Given the description of an element on the screen output the (x, y) to click on. 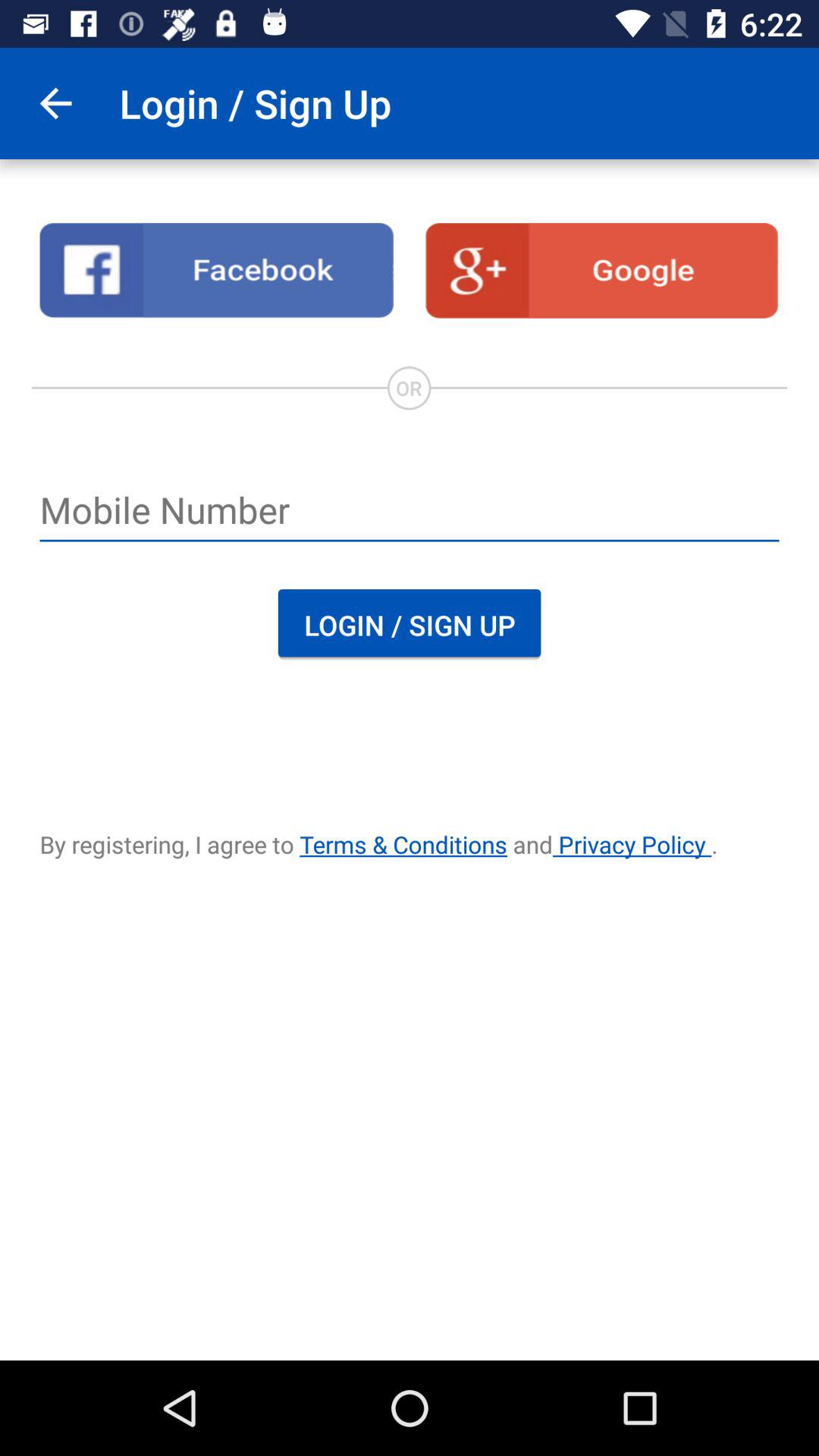
login with google (602, 270)
